Given the description of an element on the screen output the (x, y) to click on. 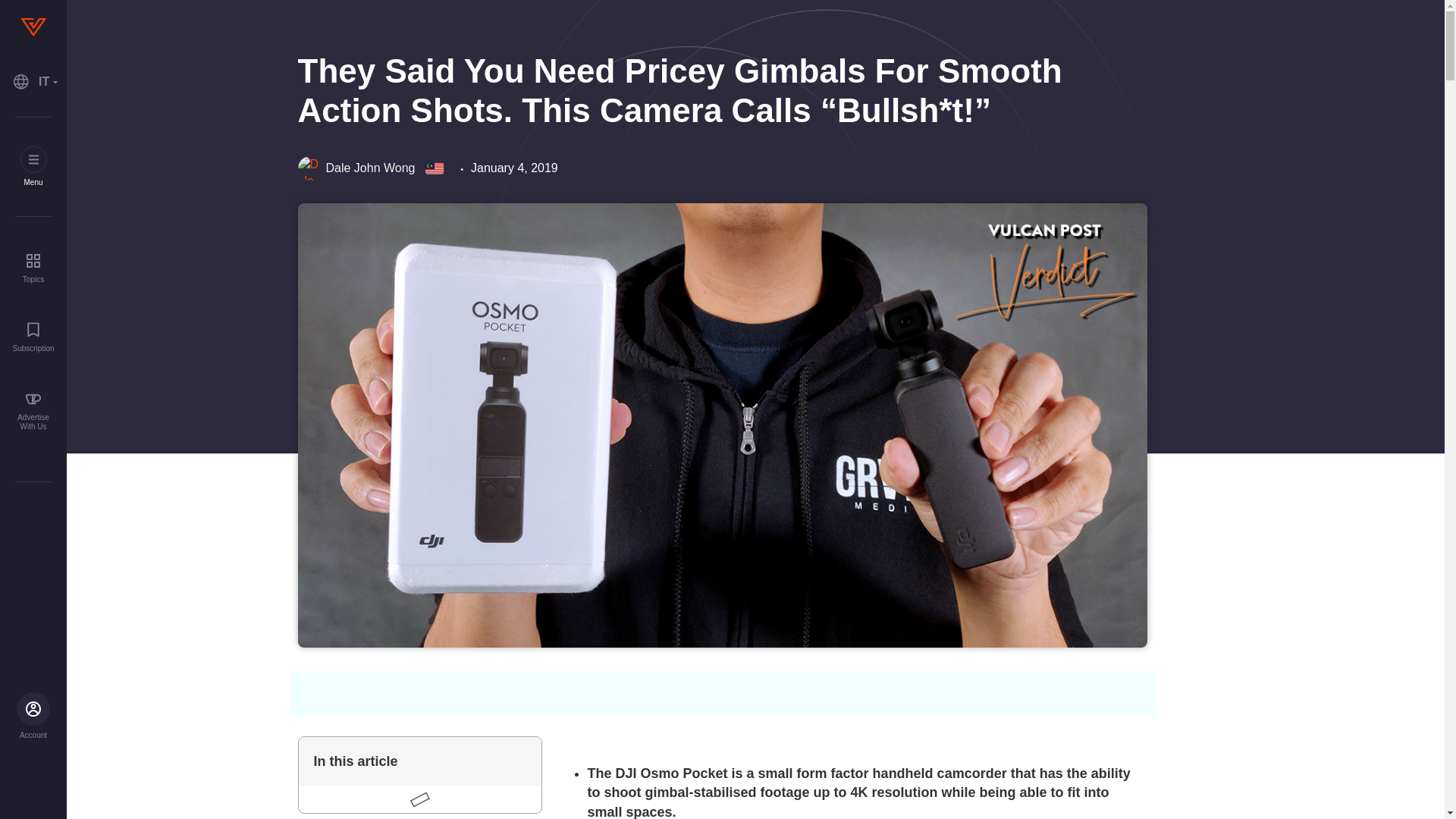
Advertise With Us (33, 410)
Dale John Wong (355, 168)
Subscription (33, 336)
IT (33, 81)
Topics (33, 267)
Menu (33, 166)
